Given the description of an element on the screen output the (x, y) to click on. 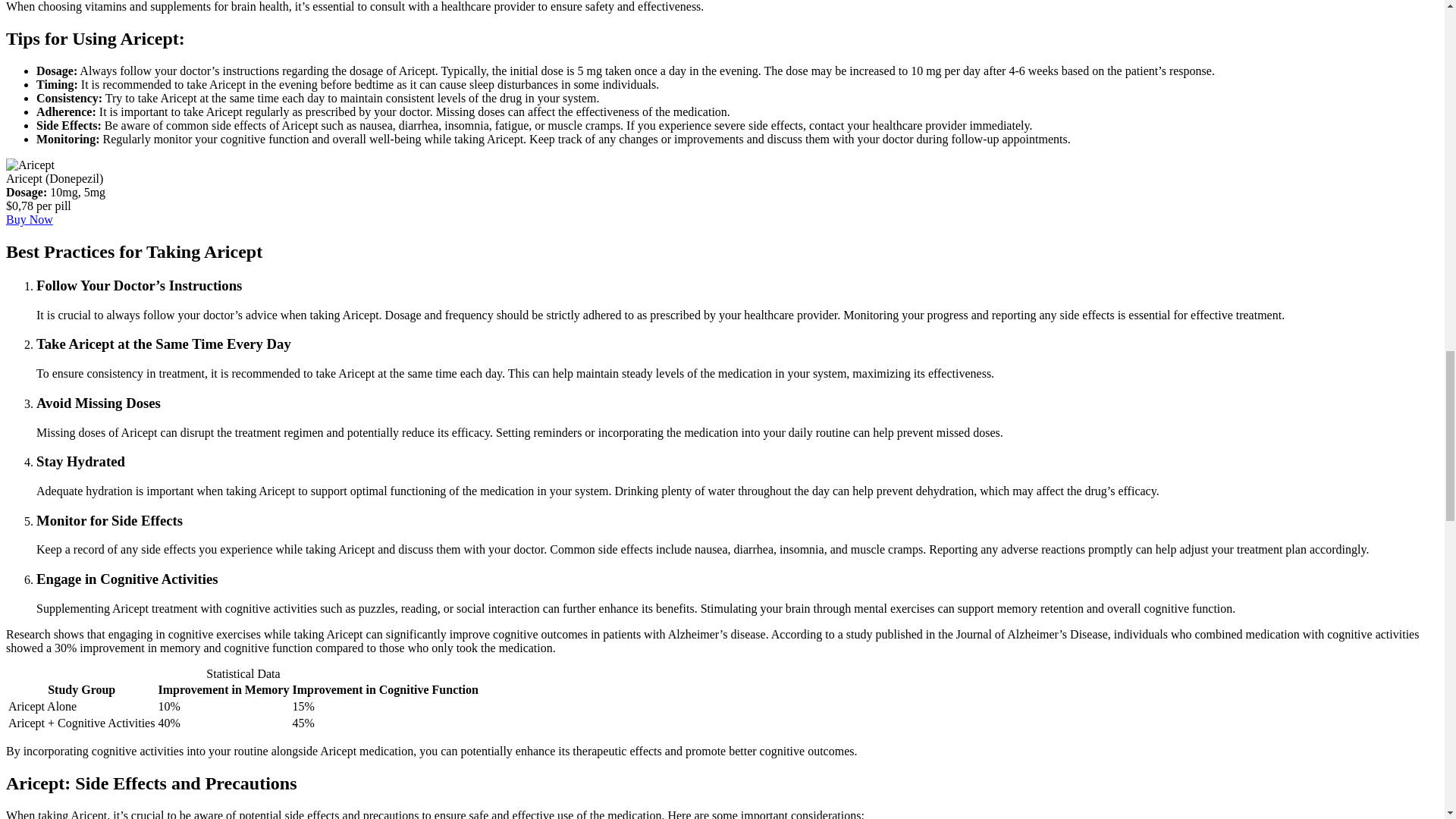
Buy Now (28, 219)
